Given the description of an element on the screen output the (x, y) to click on. 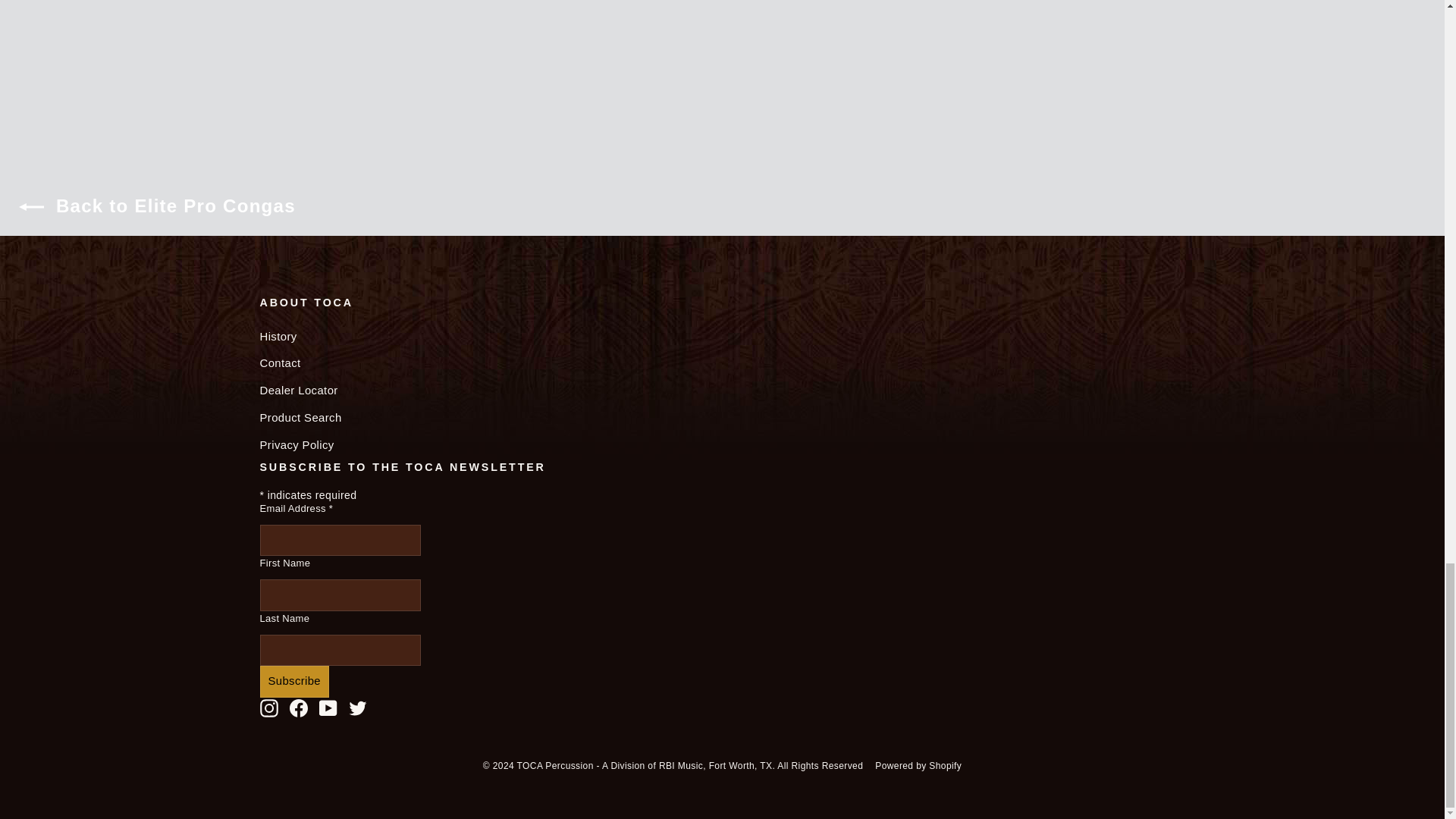
TOCA Percussion on Instagram (268, 707)
Subscribe (294, 681)
TOCA Percussion on Facebook (298, 707)
TOCA Percussion on Twitter (357, 707)
TOCA Percussion on YouTube (327, 707)
